Given the description of an element on the screen output the (x, y) to click on. 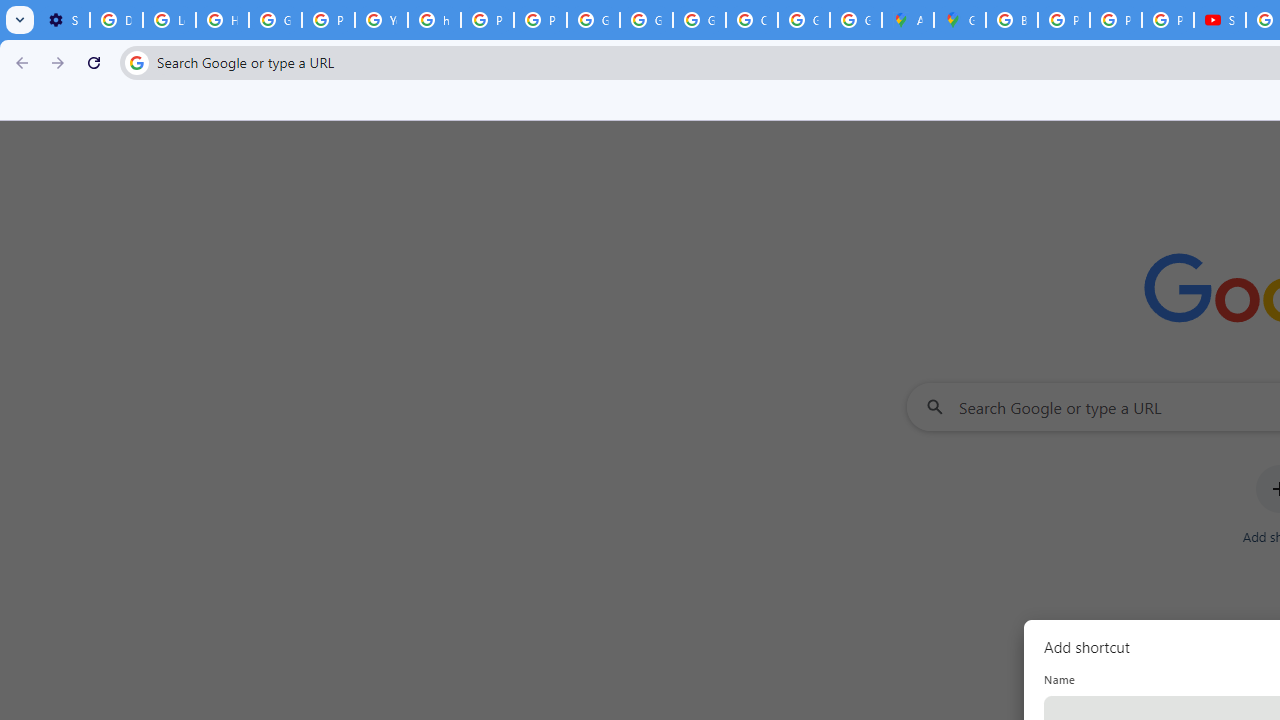
Privacy Help Center - Policies Help (1115, 20)
Blogger Policies and Guidelines - Transparency Center (1011, 20)
YouTube (381, 20)
Learn how to find your photos - Google Photos Help (169, 20)
Delete photos & videos - Computer - Google Photos Help (116, 20)
Privacy Help Center - Policies Help (1064, 20)
